Given the description of an element on the screen output the (x, y) to click on. 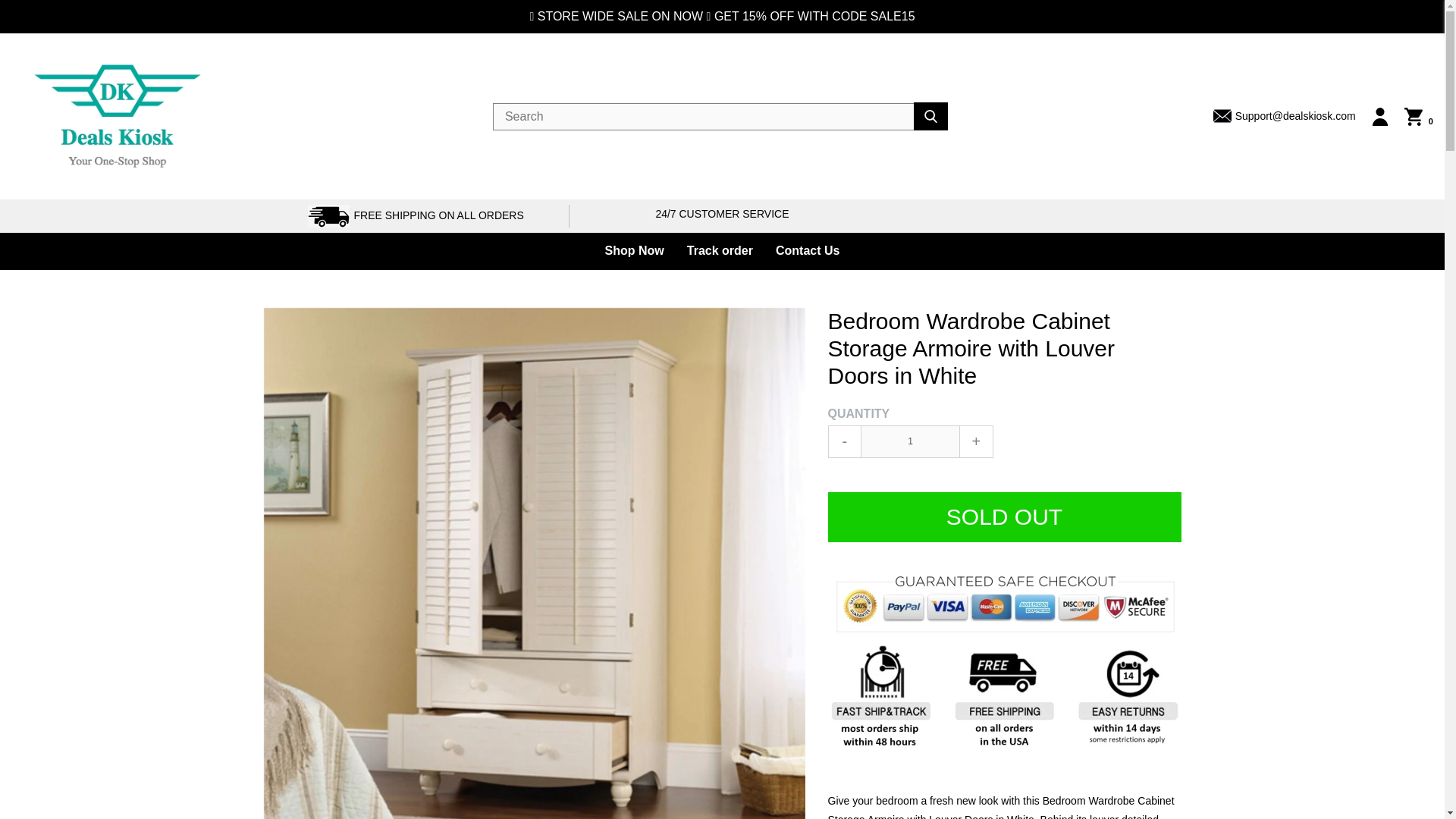
Shop Now (634, 251)
0 (1418, 116)
Track order (719, 251)
SOLD OUT (1004, 517)
- (844, 441)
Contact Us (807, 251)
1 (909, 441)
